Given the description of an element on the screen output the (x, y) to click on. 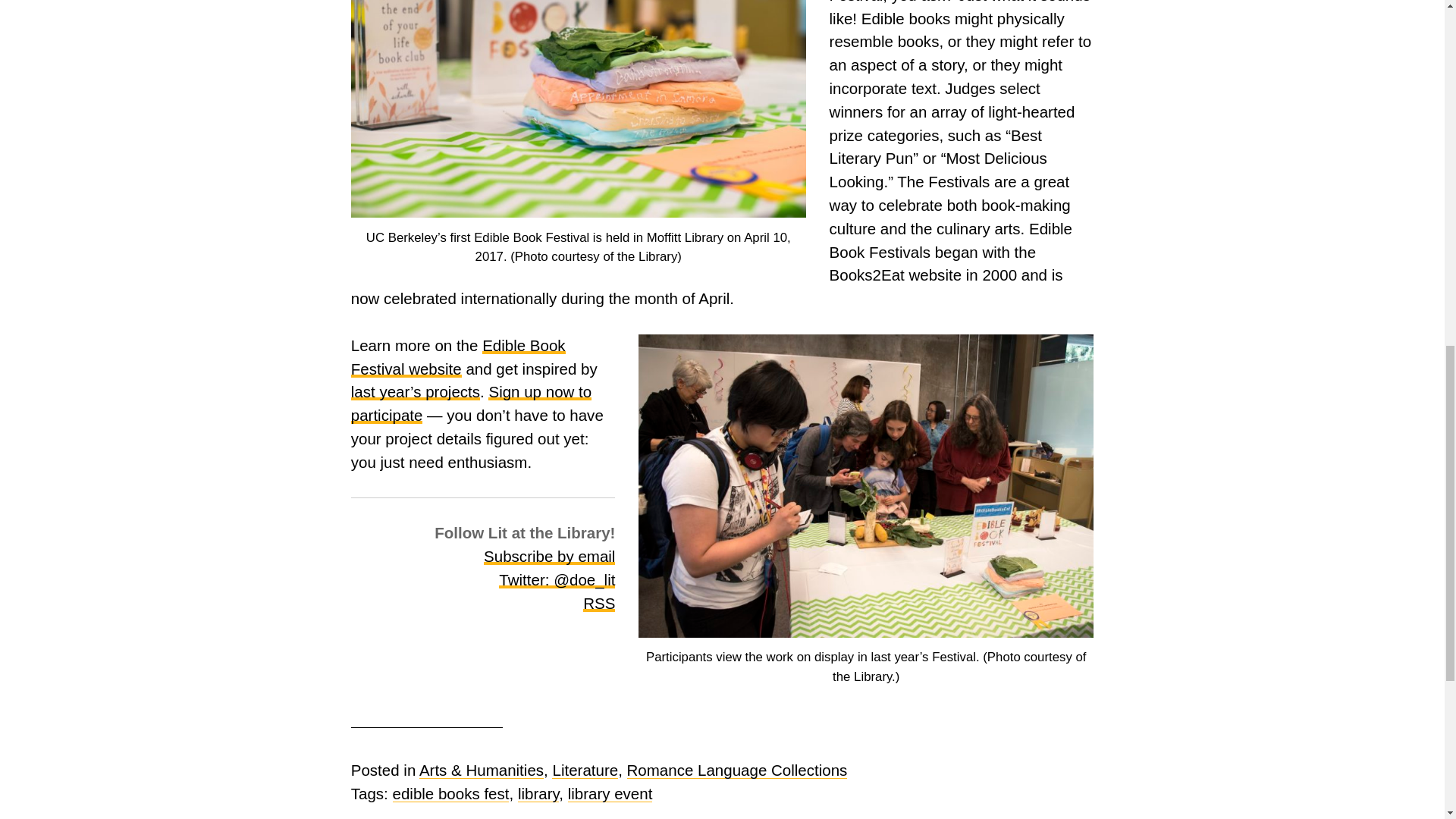
Edible Book Festival website (458, 356)
